Given the description of an element on the screen output the (x, y) to click on. 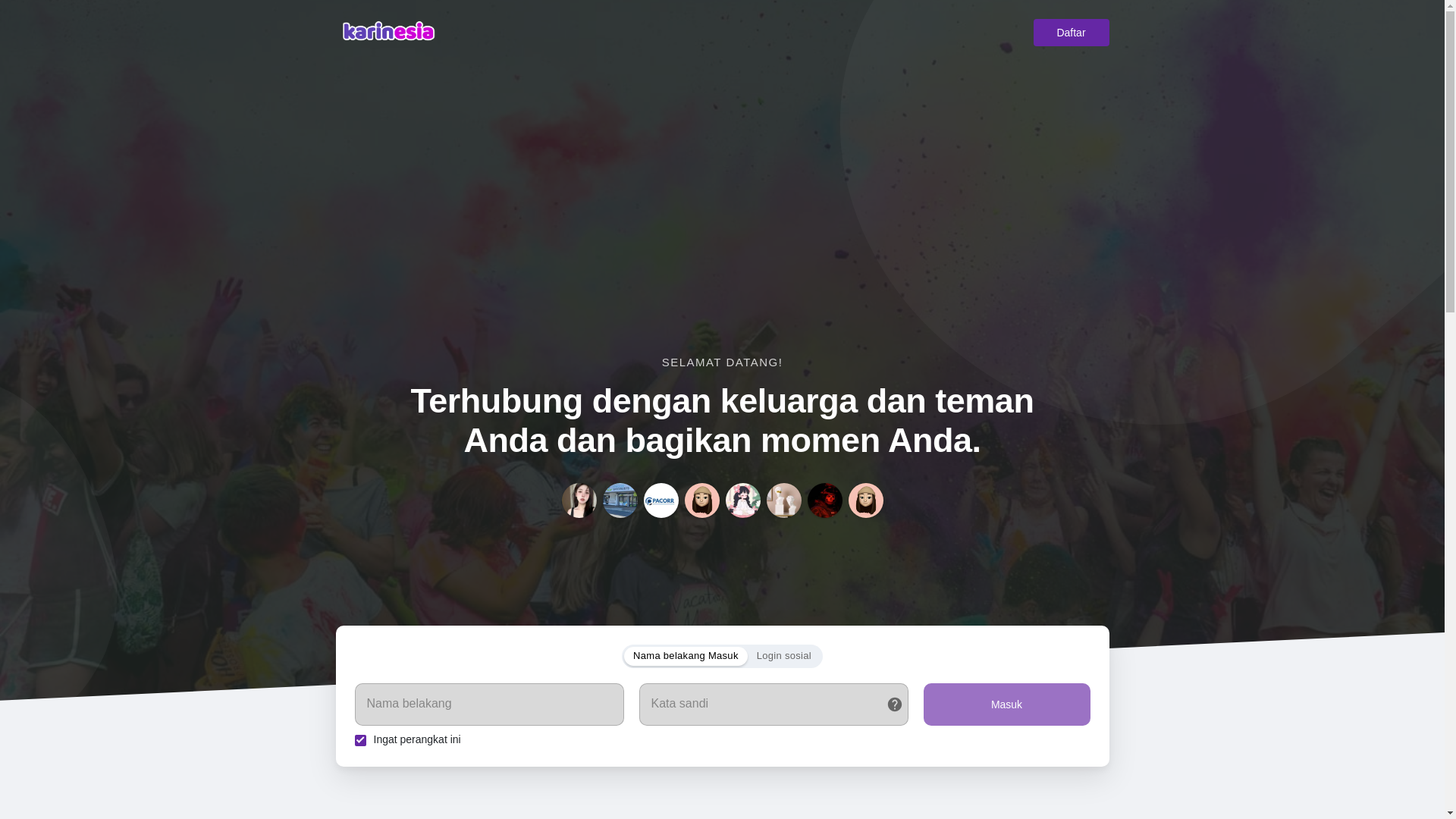
pacorr testing (660, 500)
ahr147 (782, 500)
Masuk (1006, 704)
chm123 (864, 500)
pingguo11 (577, 500)
shangban666 (701, 500)
Daftar (1070, 31)
Nama belakang Masuk (686, 656)
chenchen123 (742, 500)
